Given the description of an element on the screen output the (x, y) to click on. 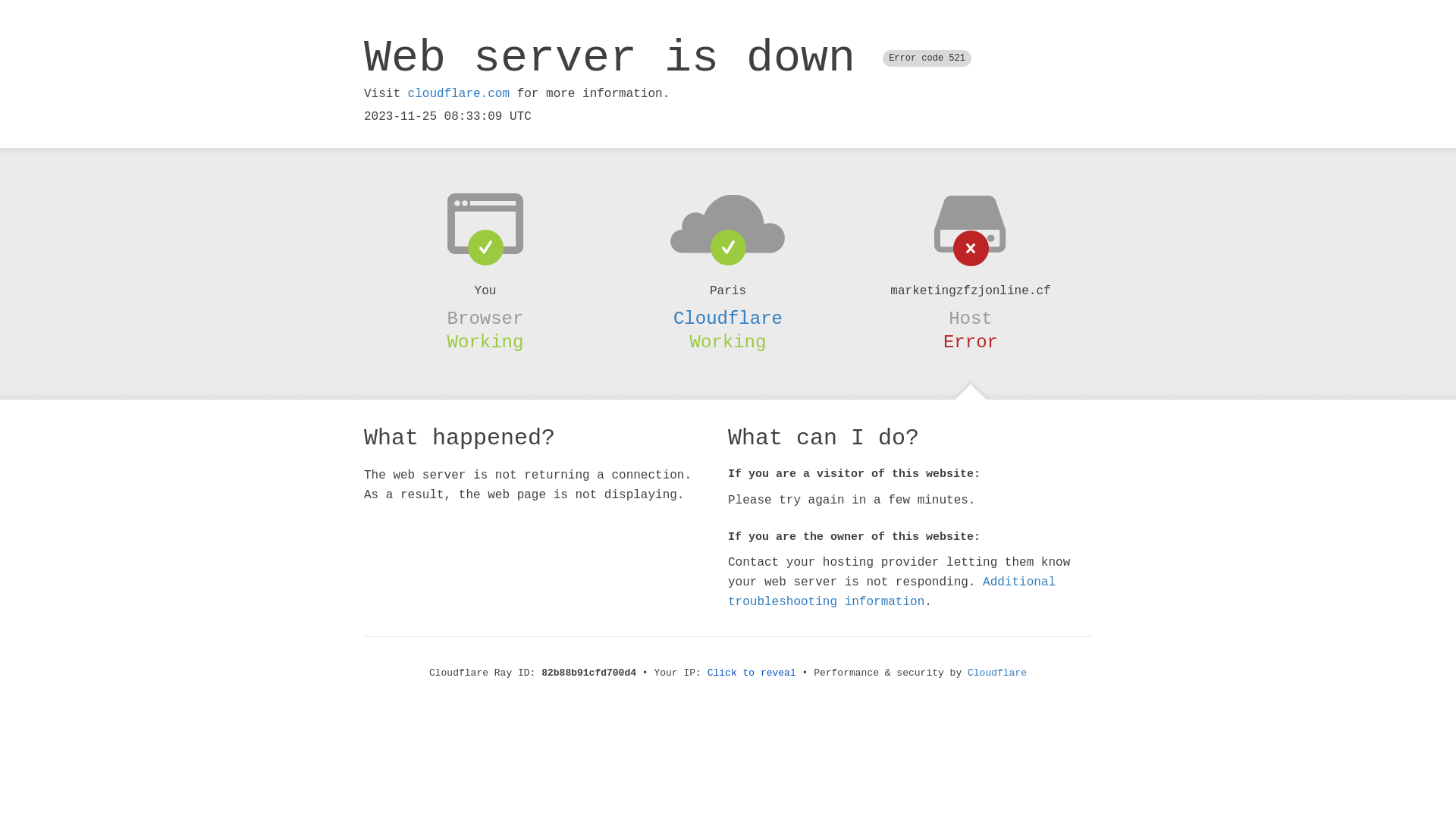
Additional troubleshooting information Element type: text (891, 591)
Cloudflare Element type: text (727, 318)
cloudflare.com Element type: text (458, 93)
Click to reveal Element type: text (751, 672)
Cloudflare Element type: text (996, 672)
